Given the description of an element on the screen output the (x, y) to click on. 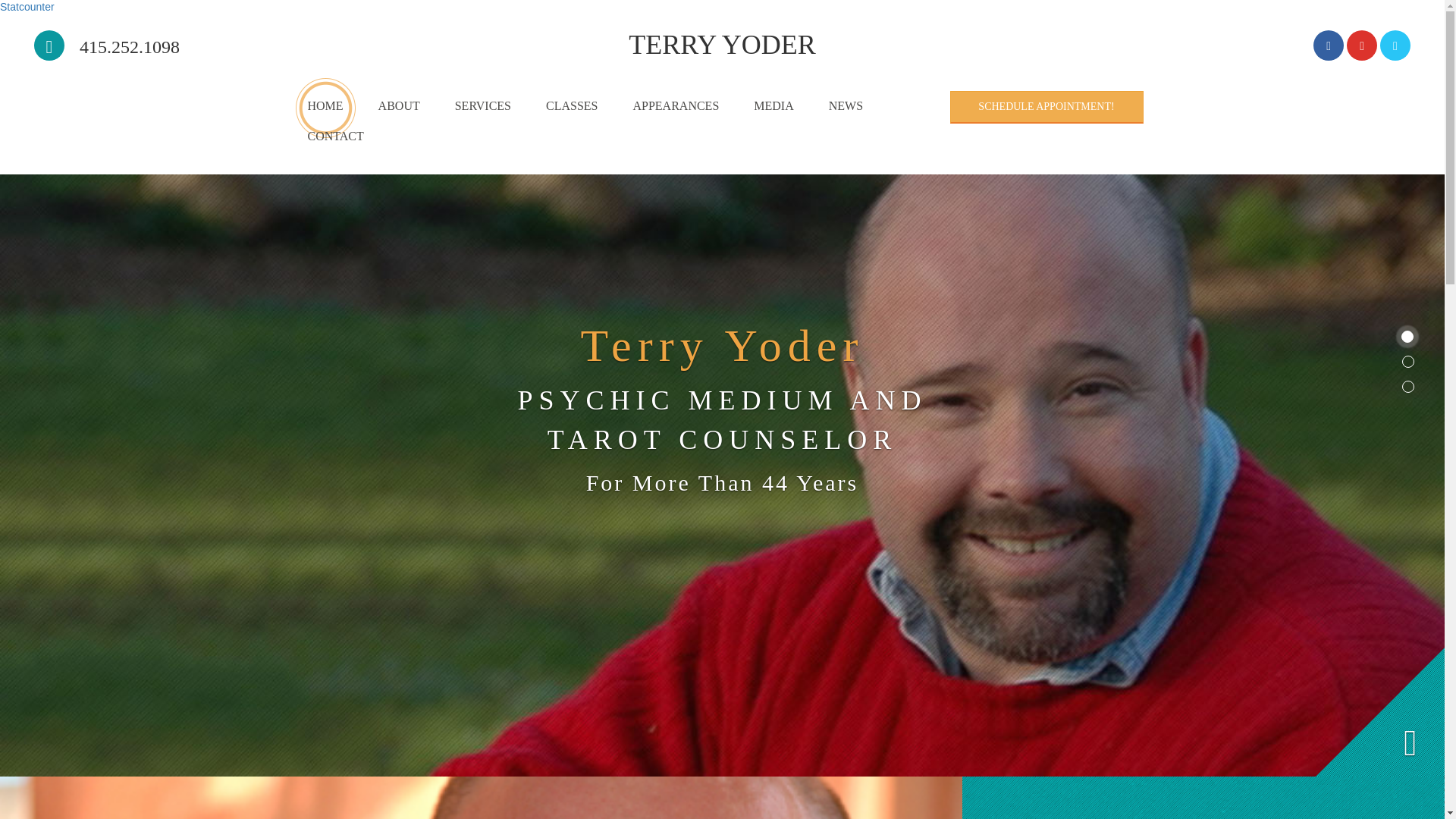
Statcounter (27, 6)
SCHEDULE APPOINTMENT! (1045, 106)
HOME (324, 105)
MEDIA (773, 105)
ABOUT (399, 105)
SERVICES (483, 105)
NEWS (845, 105)
CLASSES (571, 105)
TERRY YODER (722, 45)
CONTACT (334, 136)
APPEARANCES (675, 105)
